Given the description of an element on the screen output the (x, y) to click on. 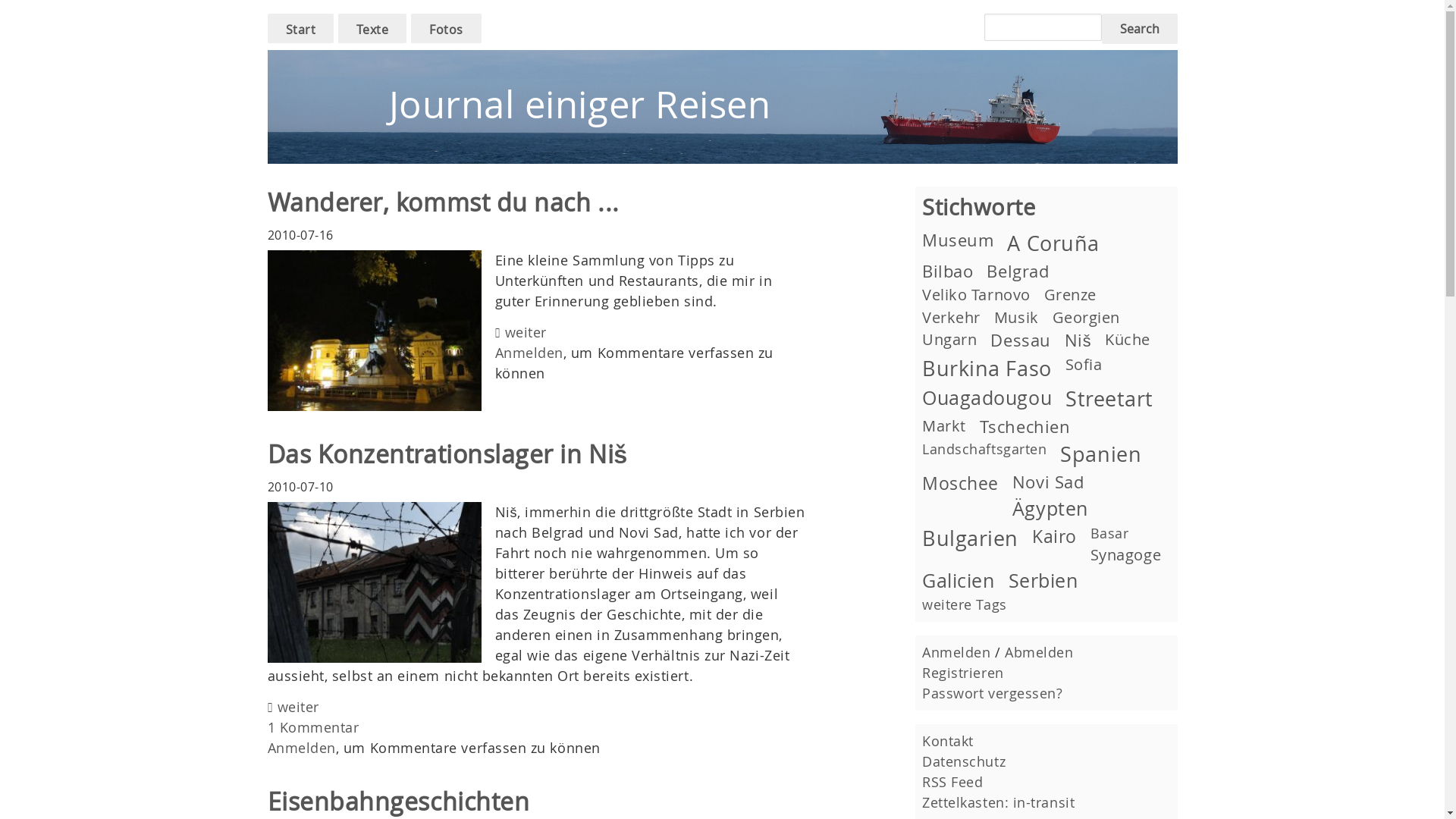
Synagoge Element type: text (1125, 554)
Serbien Element type: text (1043, 579)
RSS Feed Element type: text (952, 781)
Startseite Element type: hover (721, 59)
Anmelden Element type: text (956, 652)
Bilbao Element type: text (947, 271)
Belgrad Element type: text (1017, 271)
Galicien Element type: text (958, 579)
Eisenbahngeschichten Element type: text (397, 800)
Ungarn Element type: text (949, 339)
Abmelden Element type: text (1038, 652)
Datenschutz Element type: text (963, 761)
Texte Element type: text (372, 29)
Journal einiger Reisen Element type: text (579, 103)
Kontakt Element type: text (947, 740)
Anmelden Element type: text (300, 747)
Ouagadougou Element type: text (986, 397)
1 Kommentar Element type: text (312, 726)
weitere Tags Element type: text (964, 604)
Start Element type: text (299, 29)
Verkehr Element type: text (951, 317)
Georgien Element type: text (1086, 317)
Basar Element type: text (1109, 533)
Bulgarien Element type: text (970, 538)
Landschaftsgarten Element type: text (984, 448)
Skip to main navigation Element type: text (13, 13)
Streetart Element type: text (1109, 398)
Anmelden Element type: text (528, 352)
Spanien Element type: text (1100, 453)
Dessau Element type: text (1020, 340)
Passwort vergessen? Element type: text (992, 693)
Fotos Element type: text (446, 29)
Kairo Element type: text (1054, 536)
Moschee Element type: text (960, 482)
Zettelkasten: in-transit Element type: text (998, 802)
Search Element type: text (1138, 28)
Die Begriffe eingeben, nach denen gesucht werden soll. Element type: hover (1042, 26)
Burkina Faso Element type: text (986, 368)
Markt Element type: text (944, 425)
Sofia Element type: text (1083, 364)
Museum Element type: text (957, 240)
Registrieren Element type: text (962, 672)
Tschechien Element type: text (1024, 426)
Grenze Element type: text (1070, 294)
Wanderer, kommst du nach ... Element type: text (442, 201)
Veliko Tarnovo Element type: text (976, 294)
Musik Element type: text (1016, 317)
Novi Sad Element type: text (1047, 481)
